Given the description of an element on the screen output the (x, y) to click on. 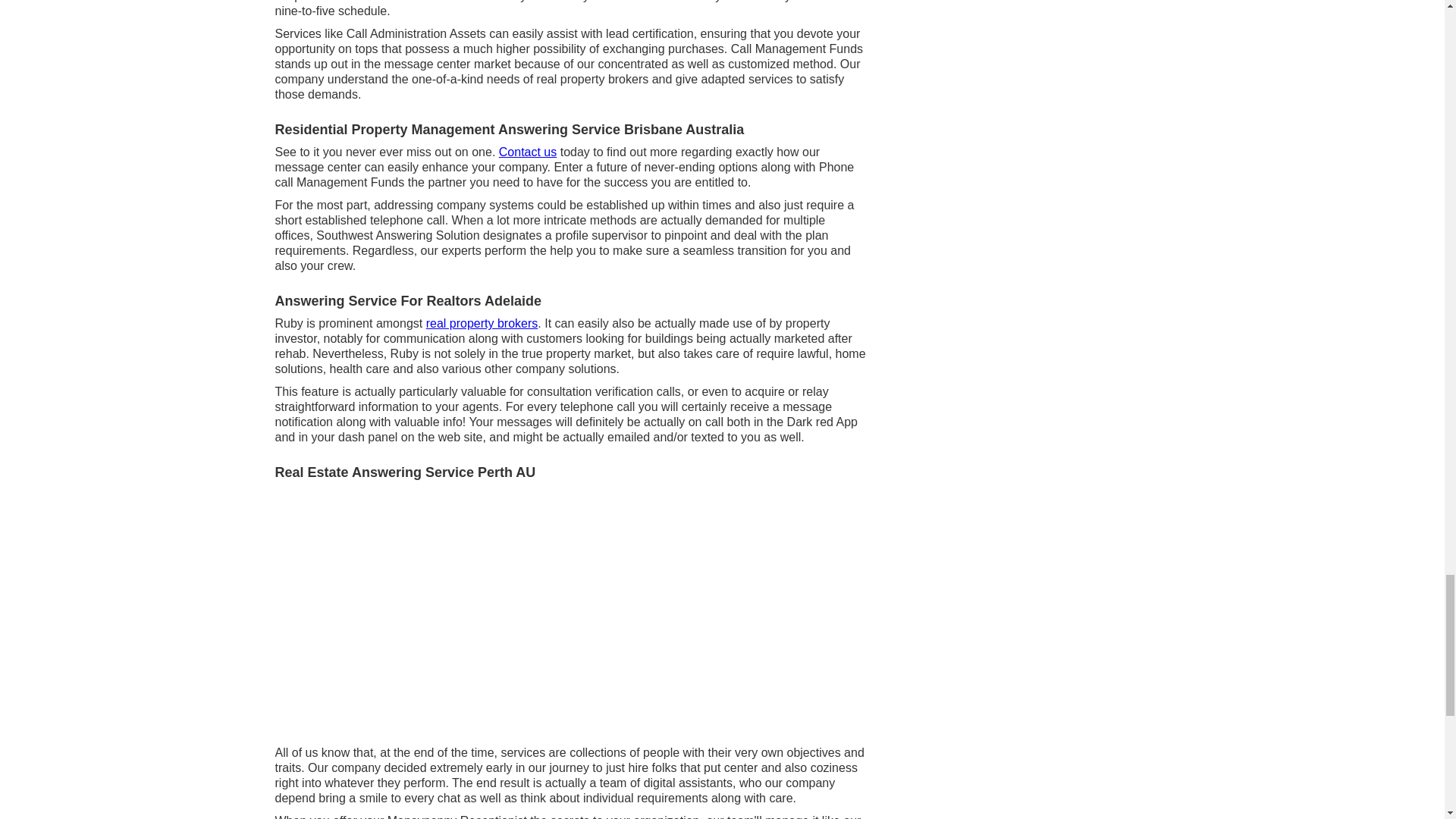
real property brokers (482, 323)
Contact us (527, 151)
